Given the description of an element on the screen output the (x, y) to click on. 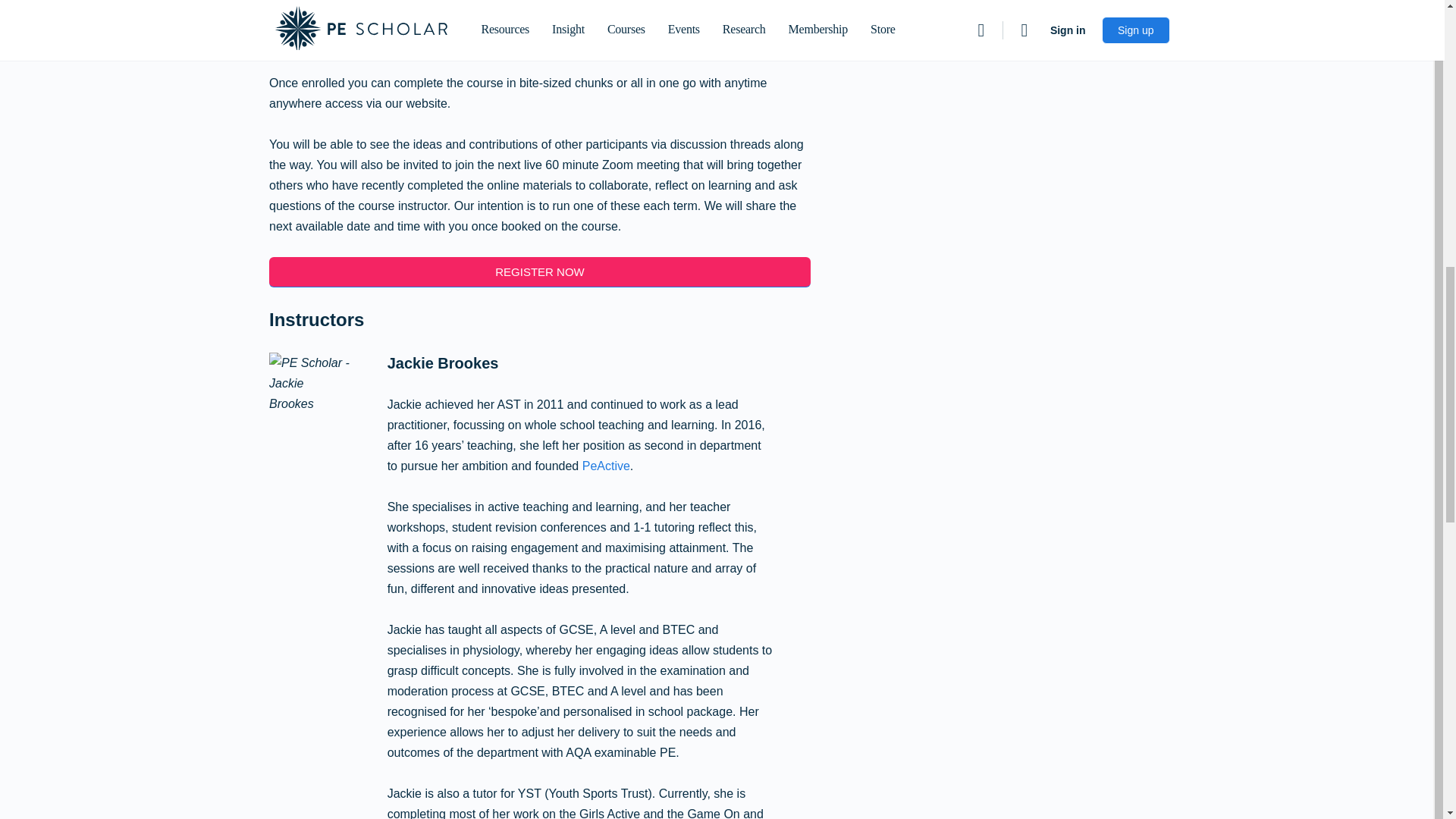
REGISTER NOW (539, 272)
PeActive (606, 465)
Register Now (539, 272)
